Given the description of an element on the screen output the (x, y) to click on. 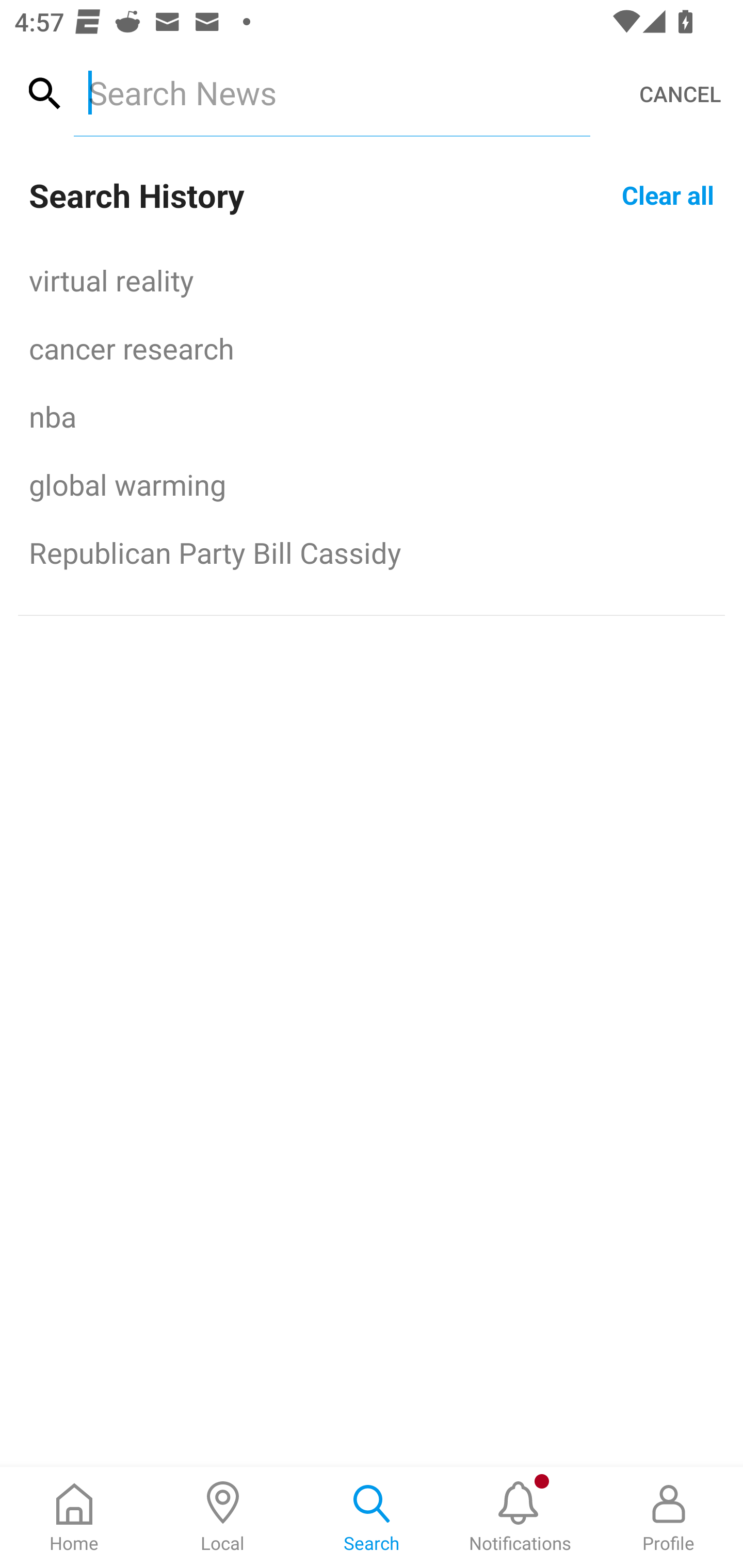
CANCEL (680, 93)
Search News (331, 92)
Clear all (667, 194)
virtual reality (371, 279)
cancer research (371, 347)
nba (371, 416)
global warming (371, 484)
Republican Party Bill Cassidy (371, 552)
Home (74, 1517)
Local (222, 1517)
Notifications, New notification Notifications (519, 1517)
Profile (668, 1517)
